Given the description of an element on the screen output the (x, y) to click on. 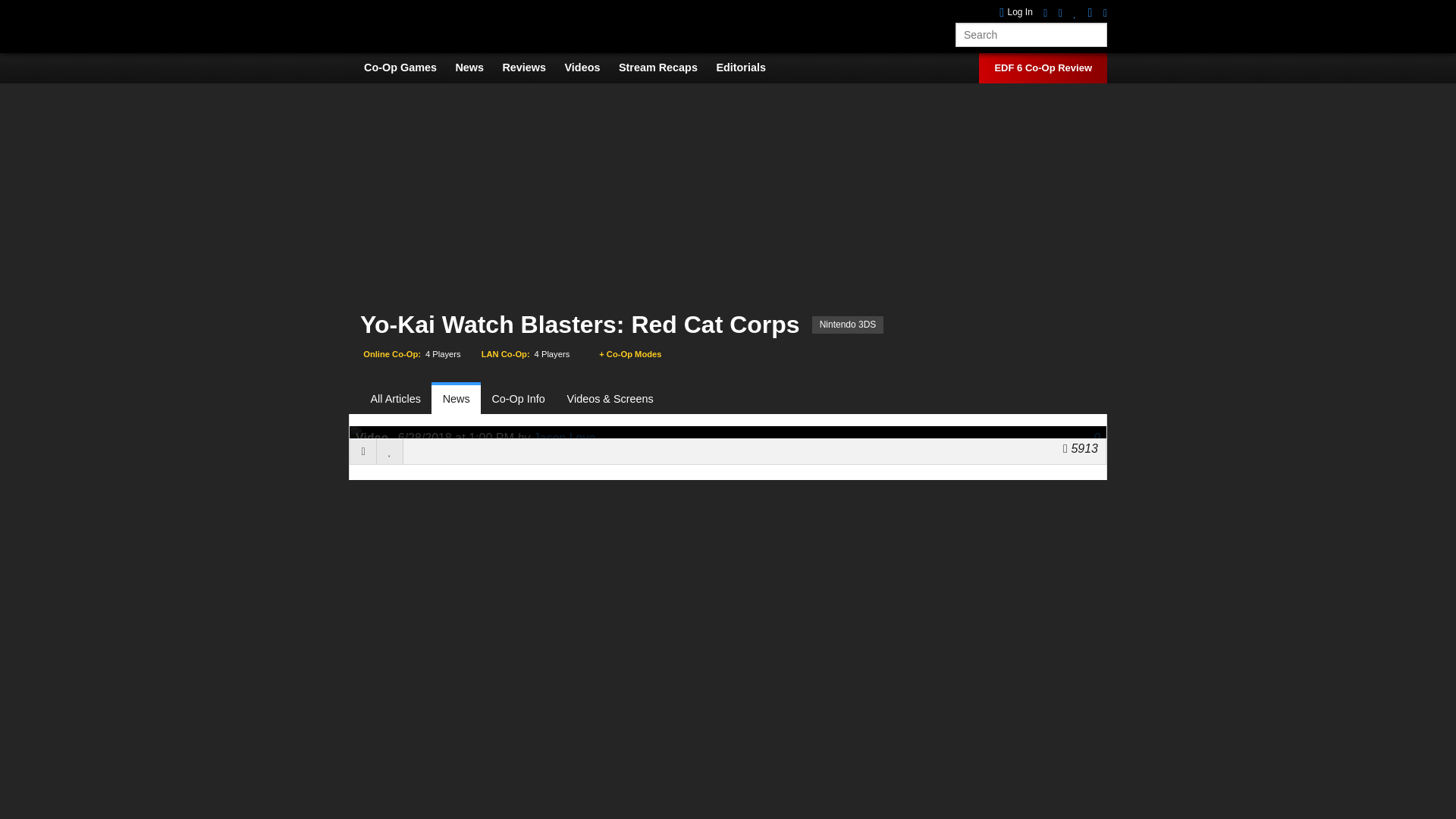
All Articles (399, 398)
login (1015, 11)
Stream Recaps (665, 67)
Co-Op Info (518, 398)
Weekly Video Streams and VODs from Co-Optimus (665, 67)
 Log In (1015, 11)
Jason Love (564, 437)
News (455, 398)
Videos (589, 67)
News (476, 67)
